Given the description of an element on the screen output the (x, y) to click on. 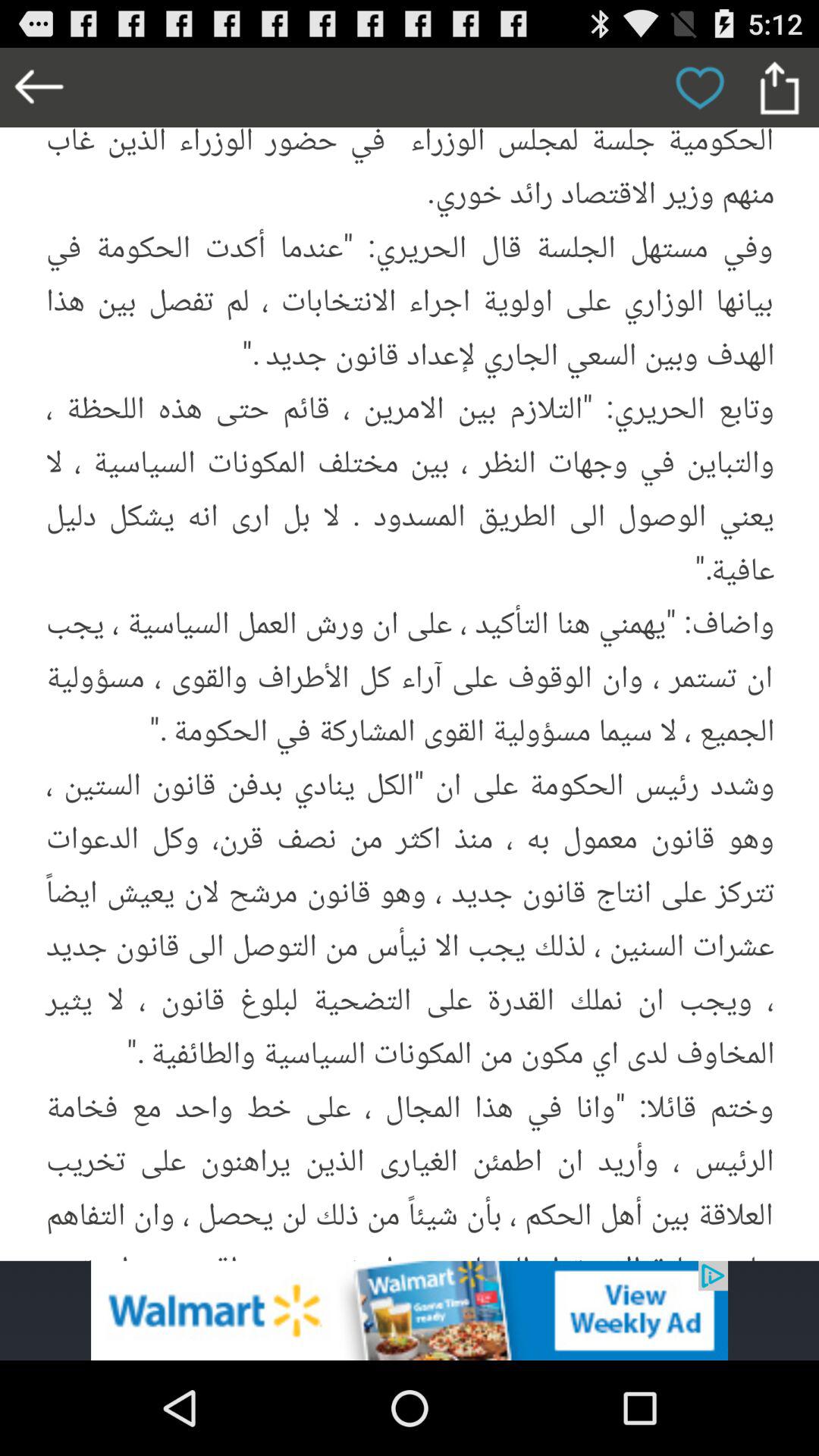
view picture (409, 653)
